Given the description of an element on the screen output the (x, y) to click on. 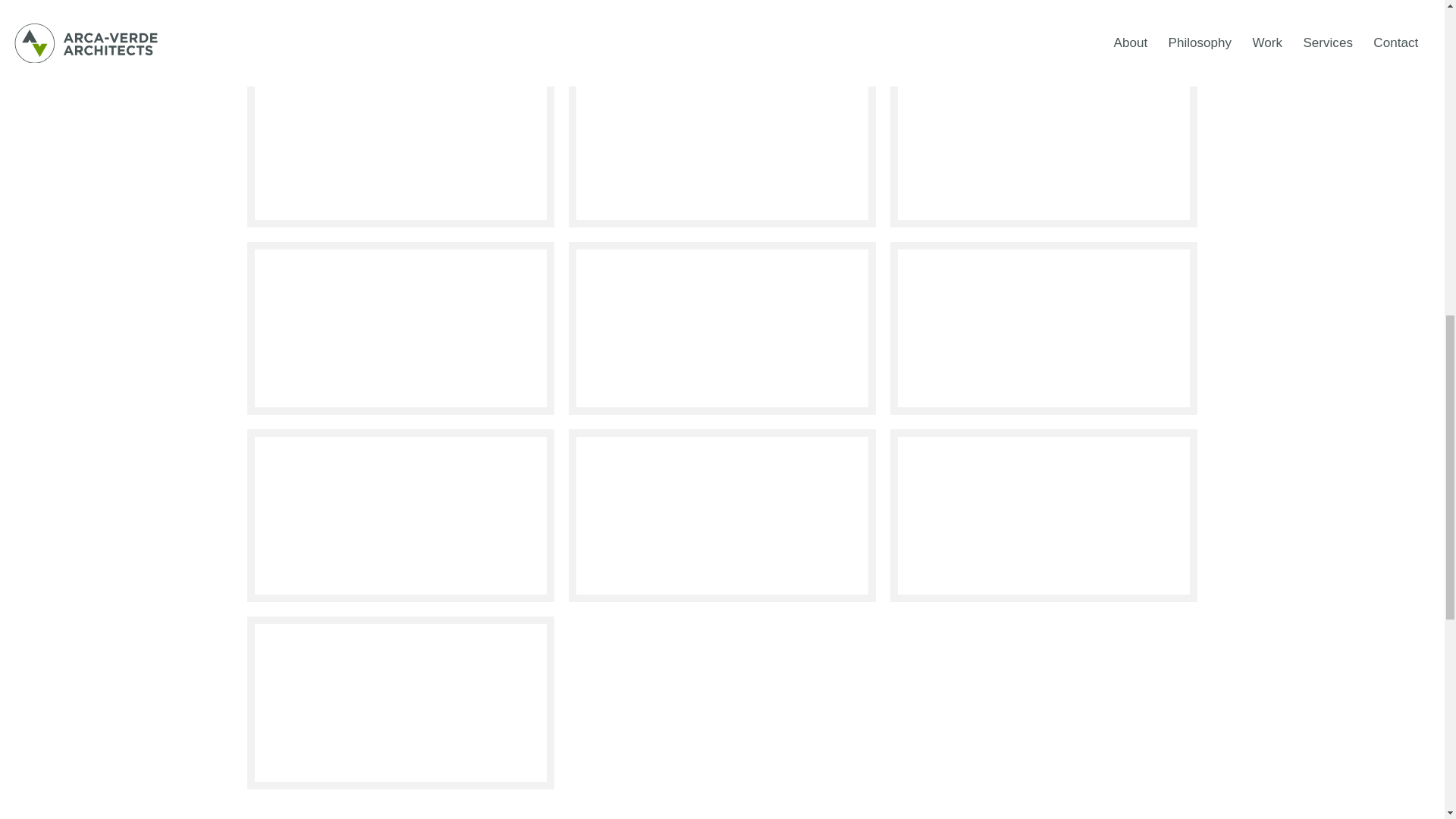
Red and White Pines - View from North-West Corner (722, 327)
Red and White Pines Overall Perspective - South East Corner (722, 140)
Red and White Pines - Kitchen   (722, 515)
Red and White Pines Plan - Main Floor (1042, 140)
Red and White Pines Overall Perspective - South-West Corner (400, 140)
Red and White Pines - Project at Twilight  (400, 702)
Red and White Pines - Great Room From Above  (1042, 515)
Red and White Pines - Overall Interior View  (1042, 327)
Red and White Pines - Site Context (722, 19)
Red and White Pines - Main Floor Great Room View  (400, 515)
